Given the description of an element on the screen output the (x, y) to click on. 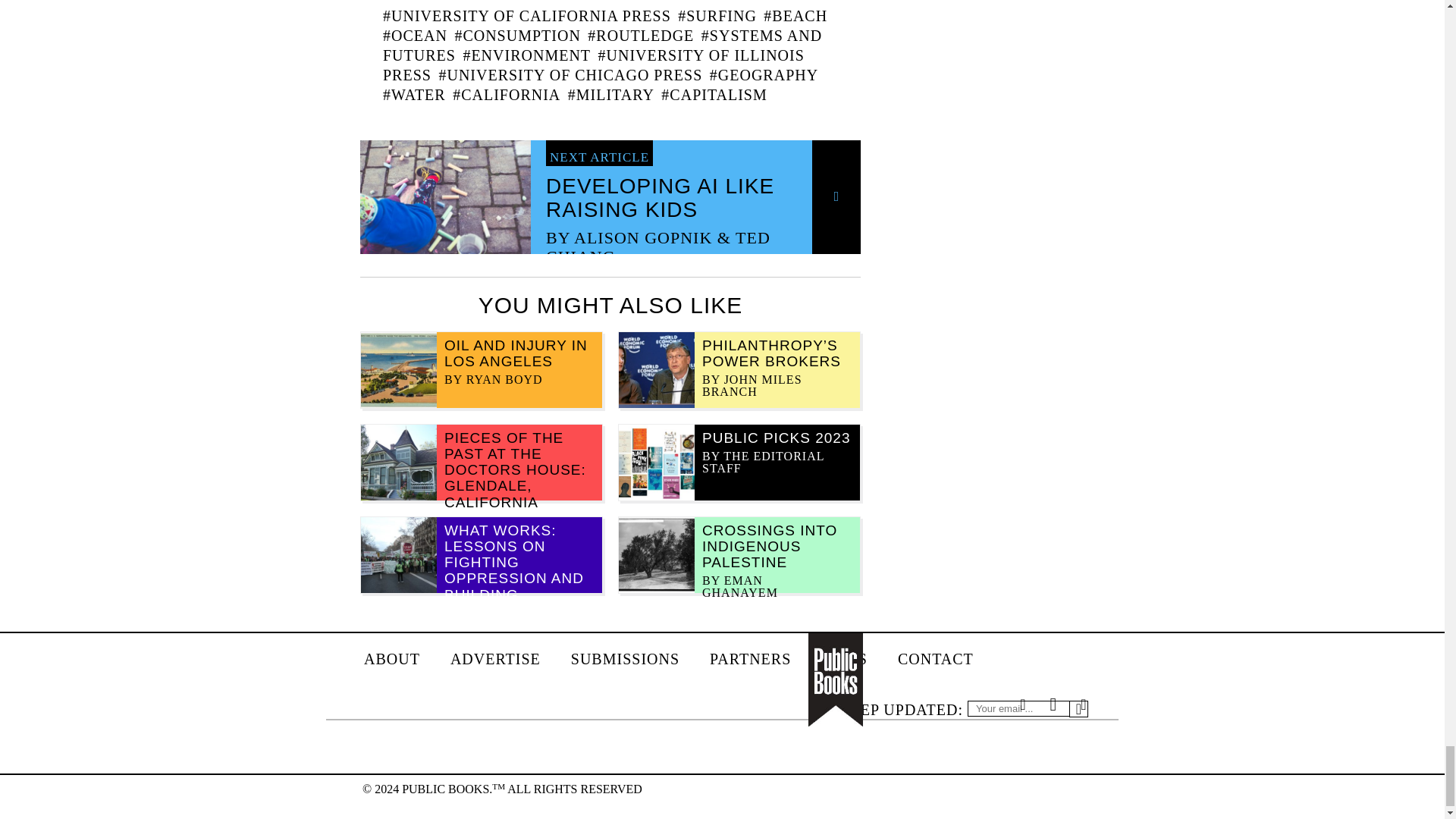
Public Picks 2023 (775, 437)
Oil and Injury in Los Angeles (516, 353)
Crossings into Indigenous Palestine (769, 546)
